Given the description of an element on the screen output the (x, y) to click on. 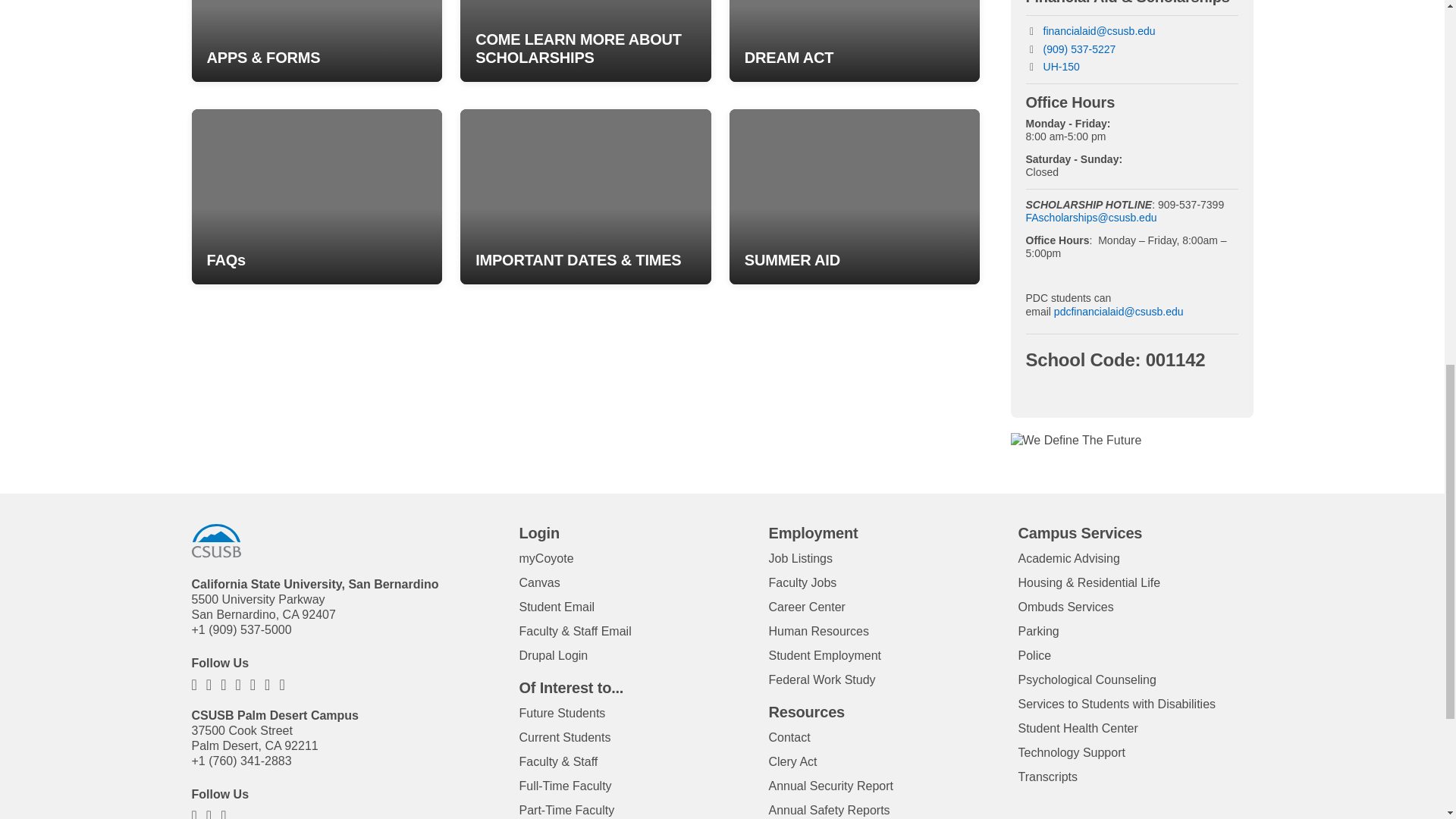
CSUSB (215, 540)
Directs to "Future Students" landing page (561, 712)
Directs to "Current Students" landing page (564, 737)
